Given the description of an element on the screen output the (x, y) to click on. 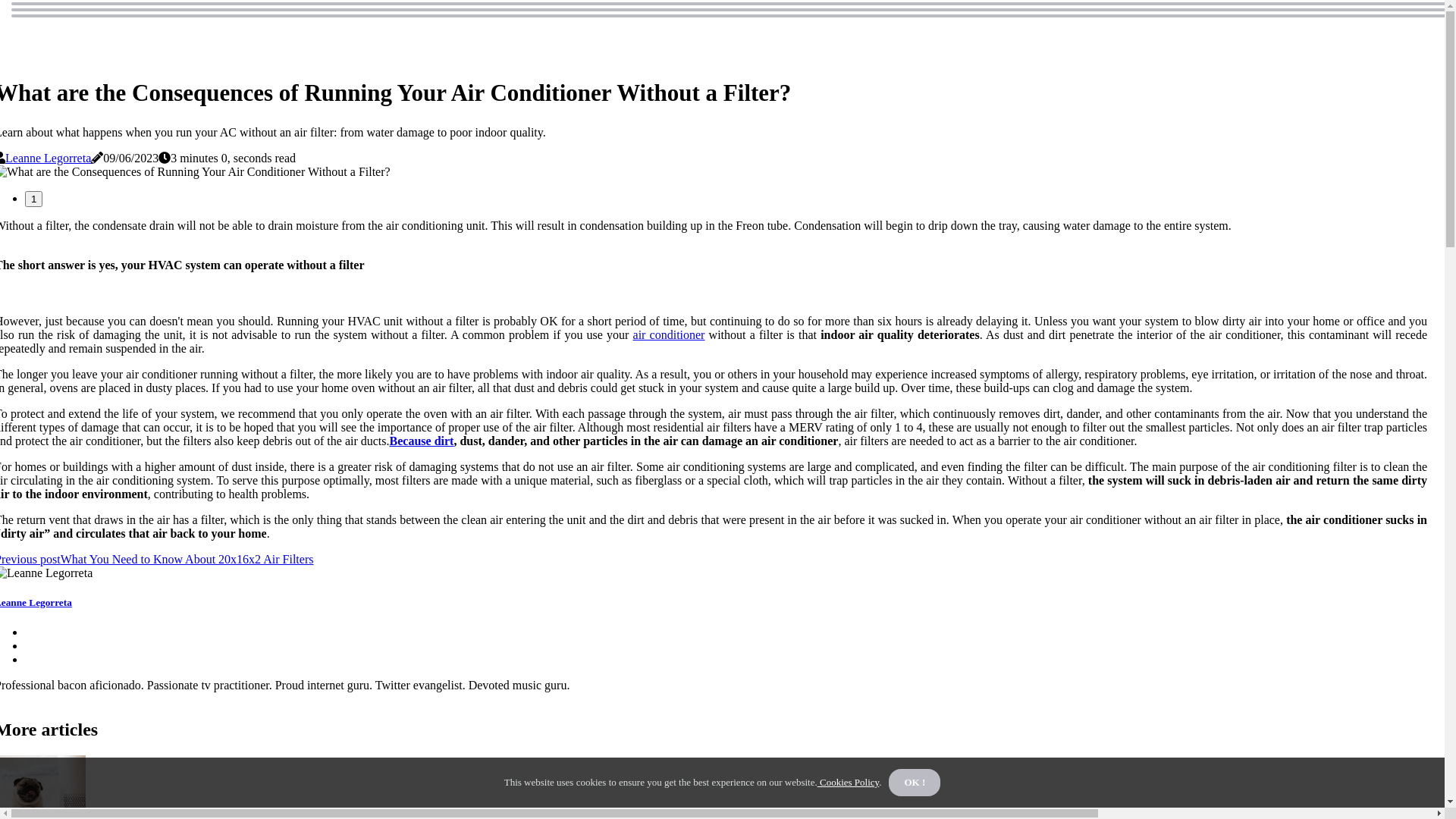
Because dirt Element type: text (421, 440)
air conditioner Element type: text (669, 334)
1 Element type: text (33, 199)
Leanne Legorreta Element type: text (48, 157)
Cookies Policy Element type: text (848, 781)
